Given the description of an element on the screen output the (x, y) to click on. 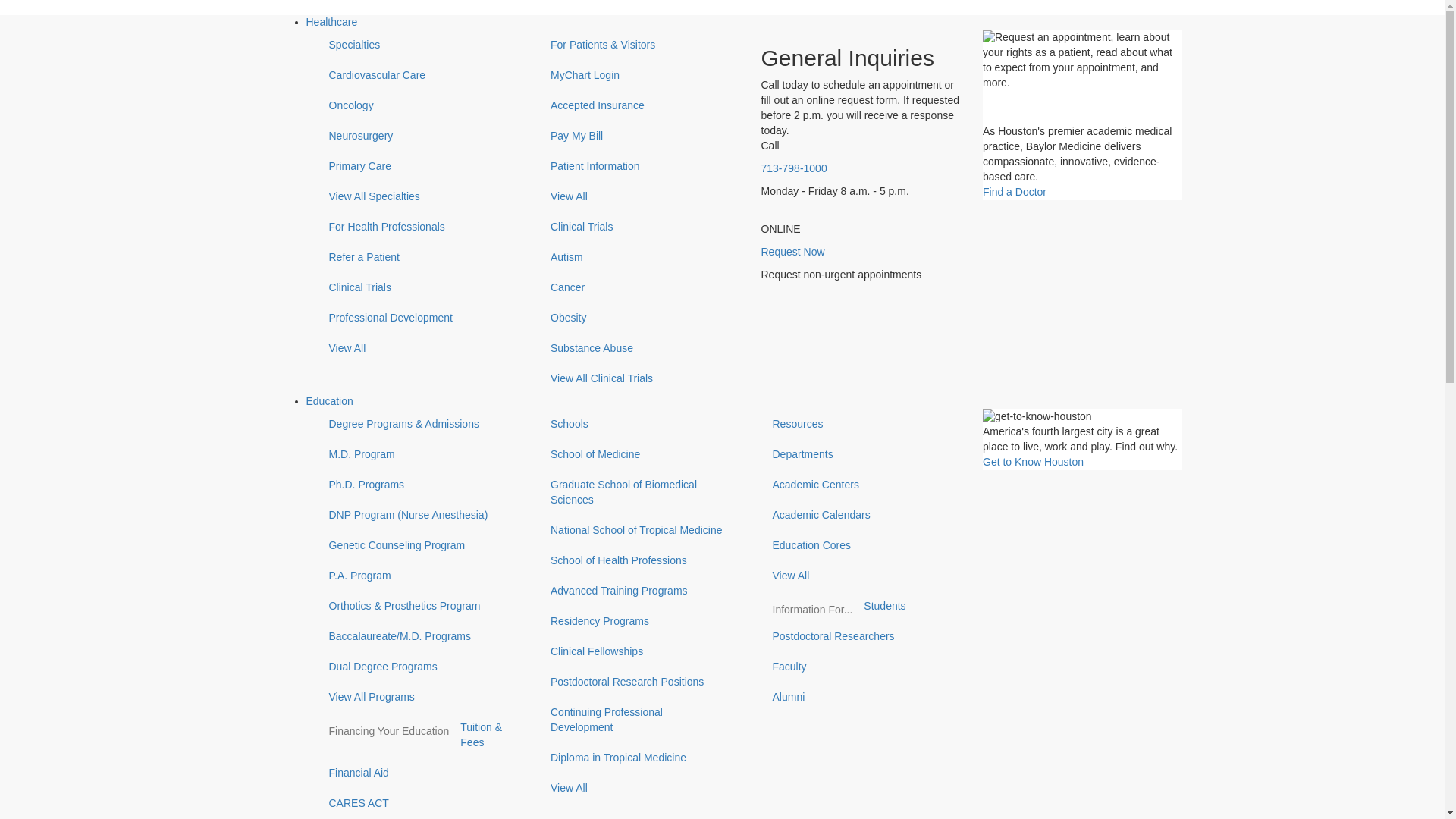
MyChart Login (638, 75)
Education (329, 400)
Clinical Trials (638, 227)
Pediatrics (550, 716)
Pay My Bill (638, 136)
Genetic Counseling Program (416, 545)
View All (416, 348)
Cancer (638, 287)
Baylor College of Medicine (364, 716)
Curriculum (343, 731)
